Given the description of an element on the screen output the (x, y) to click on. 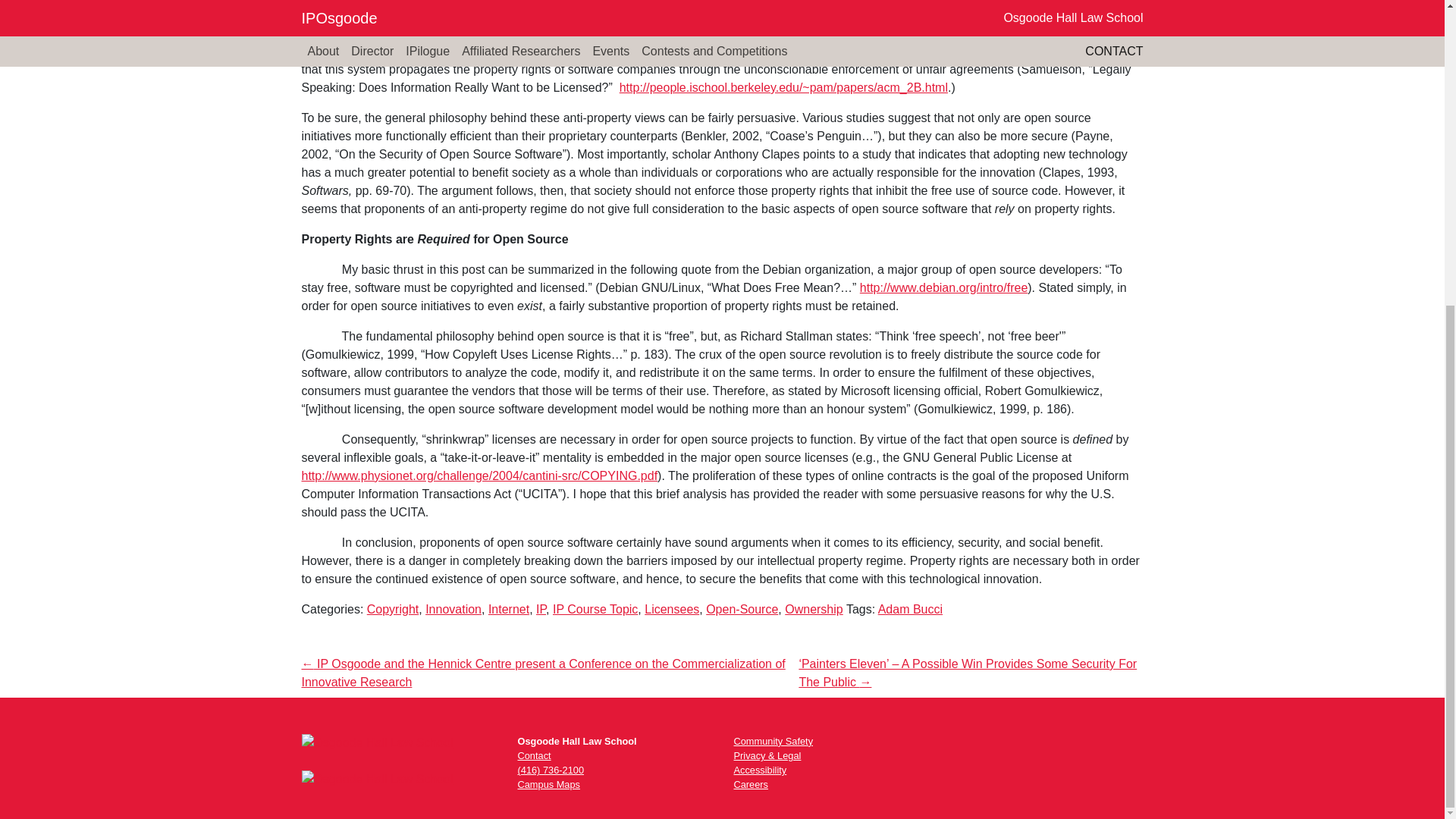
IP Course Topic (595, 608)
Copyright (392, 608)
Adam Bucci (909, 608)
Internet (508, 608)
Contact (533, 755)
Open-Source (741, 608)
Licensees (671, 608)
Community Safety (773, 740)
Ownership (813, 608)
Innovation (453, 608)
